Given the description of an element on the screen output the (x, y) to click on. 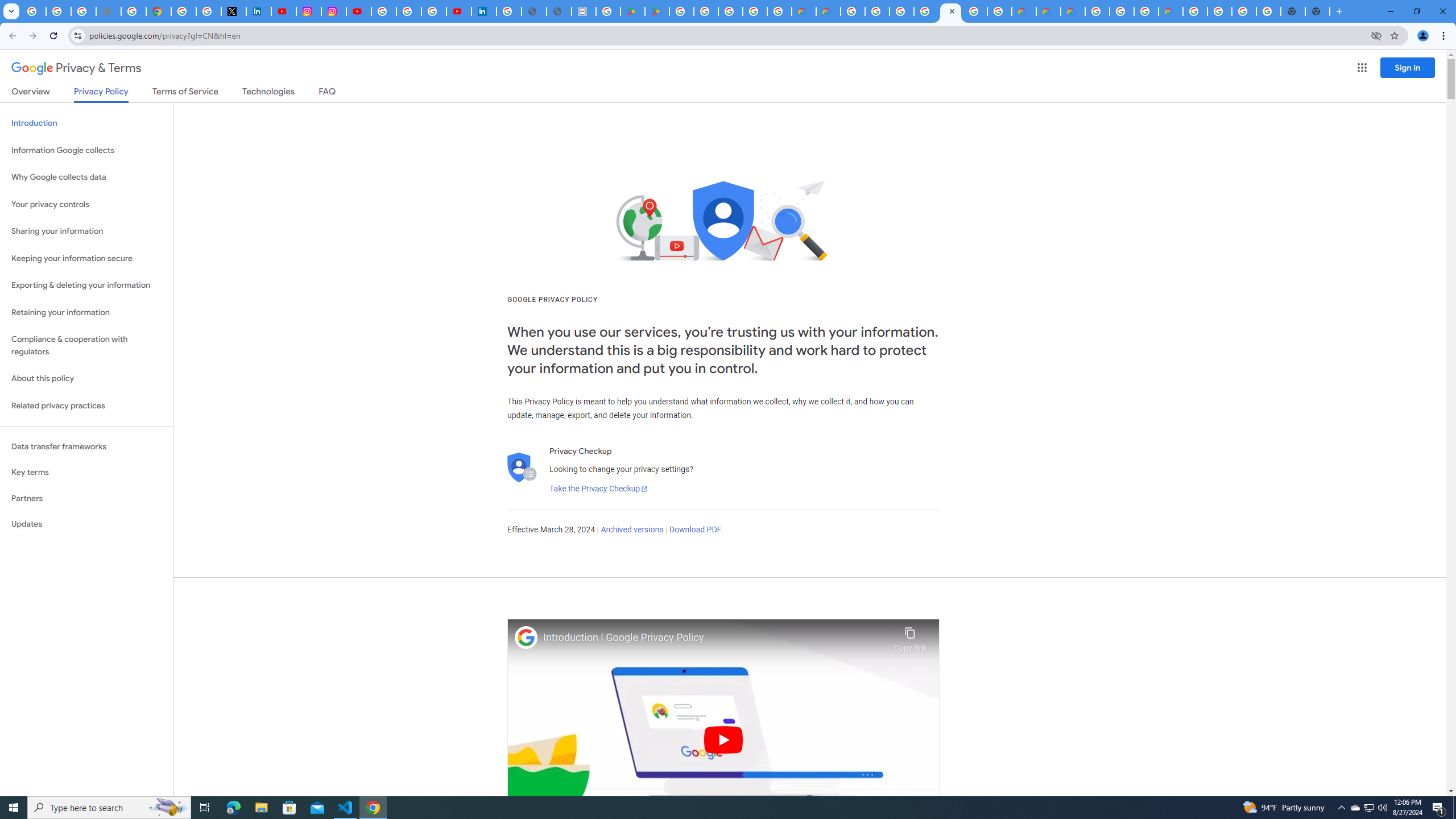
Google Cloud Platform (852, 11)
Google Cloud Service Health (1170, 11)
New Tab (1317, 11)
Key terms (86, 472)
Terms of Service (184, 93)
Forward (32, 35)
Identity verification via Persona | LinkedIn Help (483, 11)
google_privacy_policy_en.pdf (533, 11)
About this policy (86, 379)
Third-party cookies blocked (1376, 35)
You (1422, 35)
Privacy Help Center - Policies Help (133, 11)
New Tab (1338, 11)
